Given the description of an element on the screen output the (x, y) to click on. 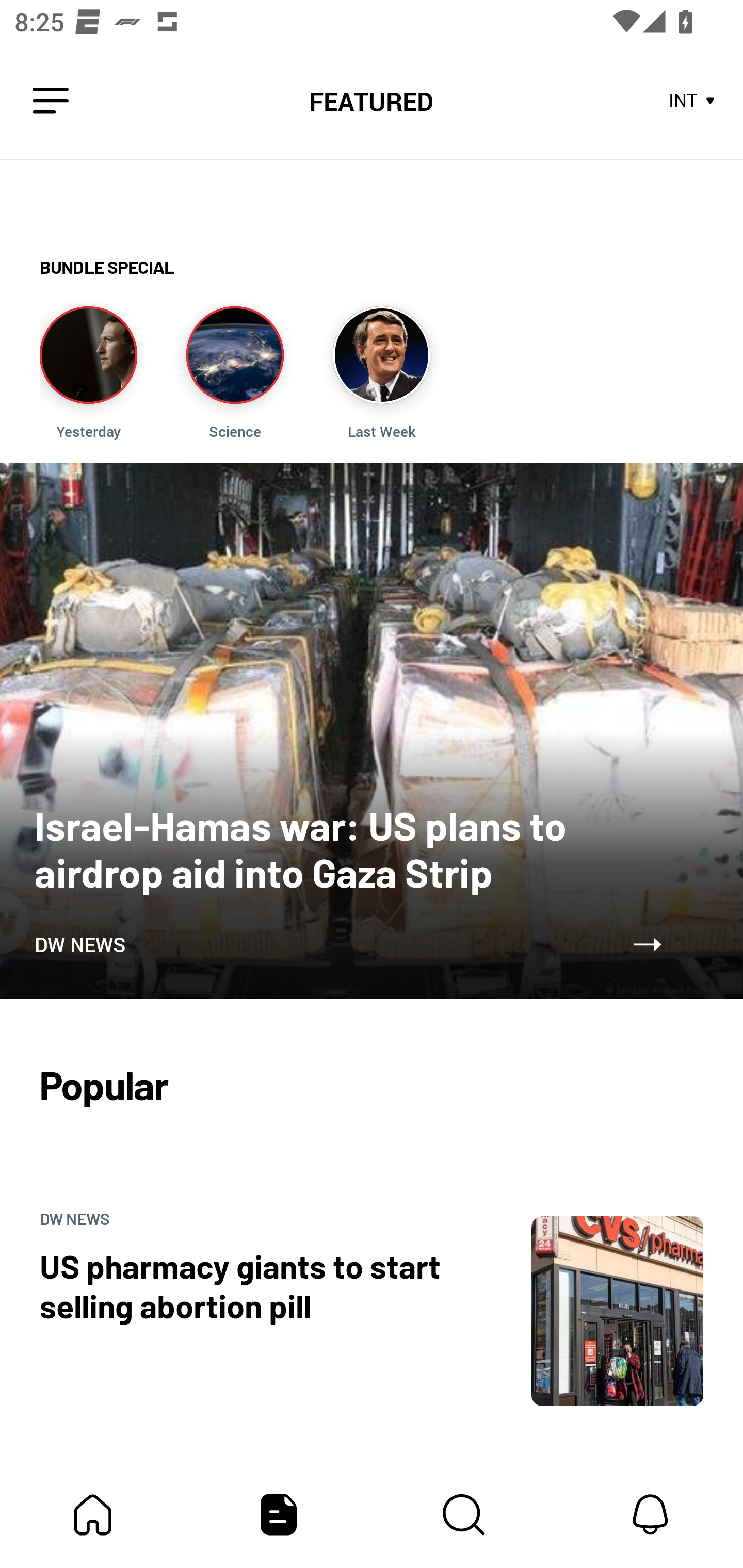
Leading Icon (50, 101)
INT Store Area (692, 101)
Story Image Yesterday (88, 372)
Story Image Science (234, 372)
Story Image Last Week (381, 372)
My Bundle (92, 1514)
Content Store (464, 1514)
Notifications (650, 1514)
